Given the description of an element on the screen output the (x, y) to click on. 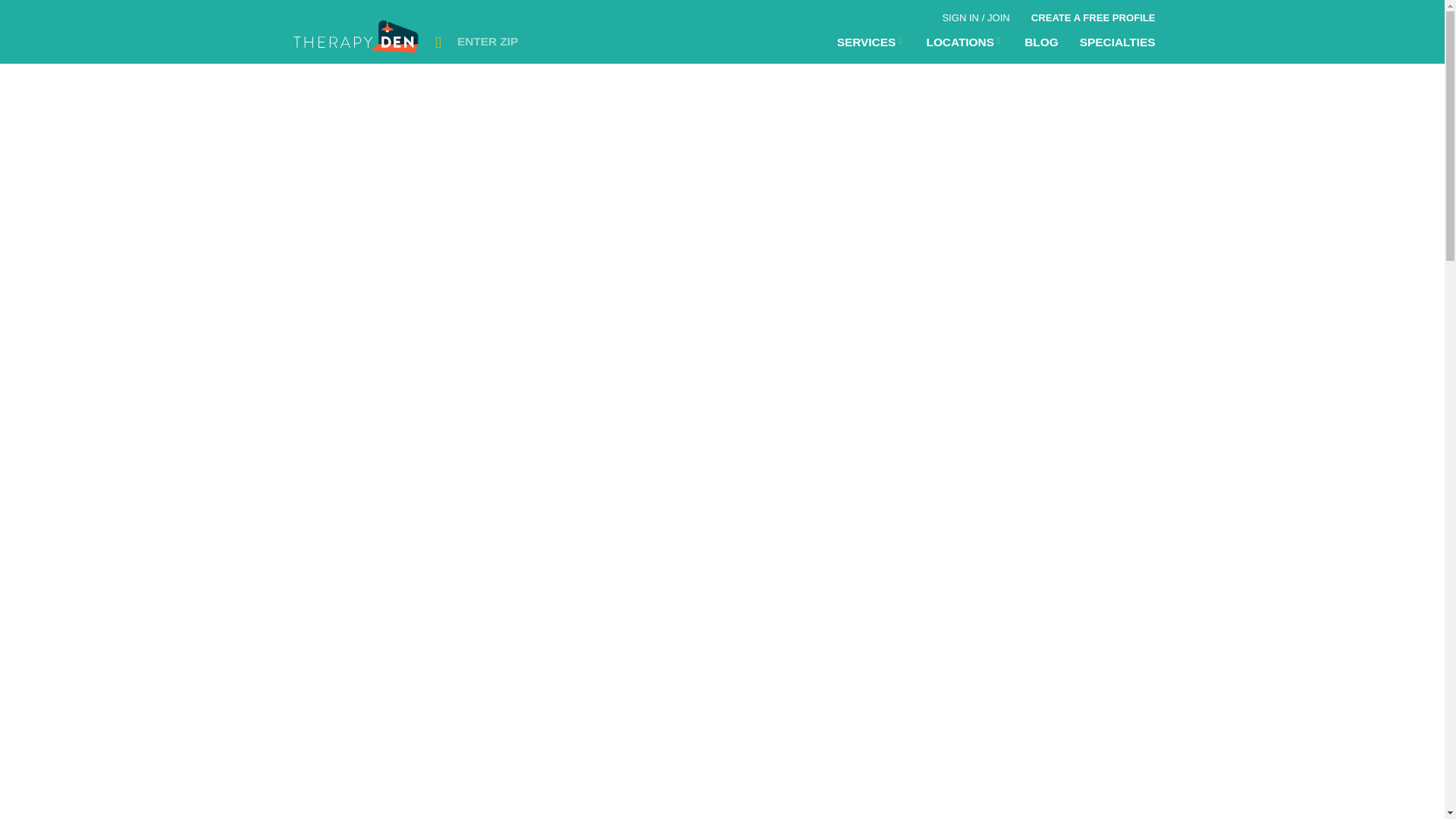
Specialties (1117, 41)
LOCATIONS (964, 41)
Blog (1040, 41)
TherapyDen Home (357, 41)
CREATE A FREE PROFILE (1093, 15)
Locations (964, 41)
BLOG (1040, 41)
SPECIALTIES (1117, 41)
SERVICES (871, 41)
Locations (871, 41)
